Given the description of an element on the screen output the (x, y) to click on. 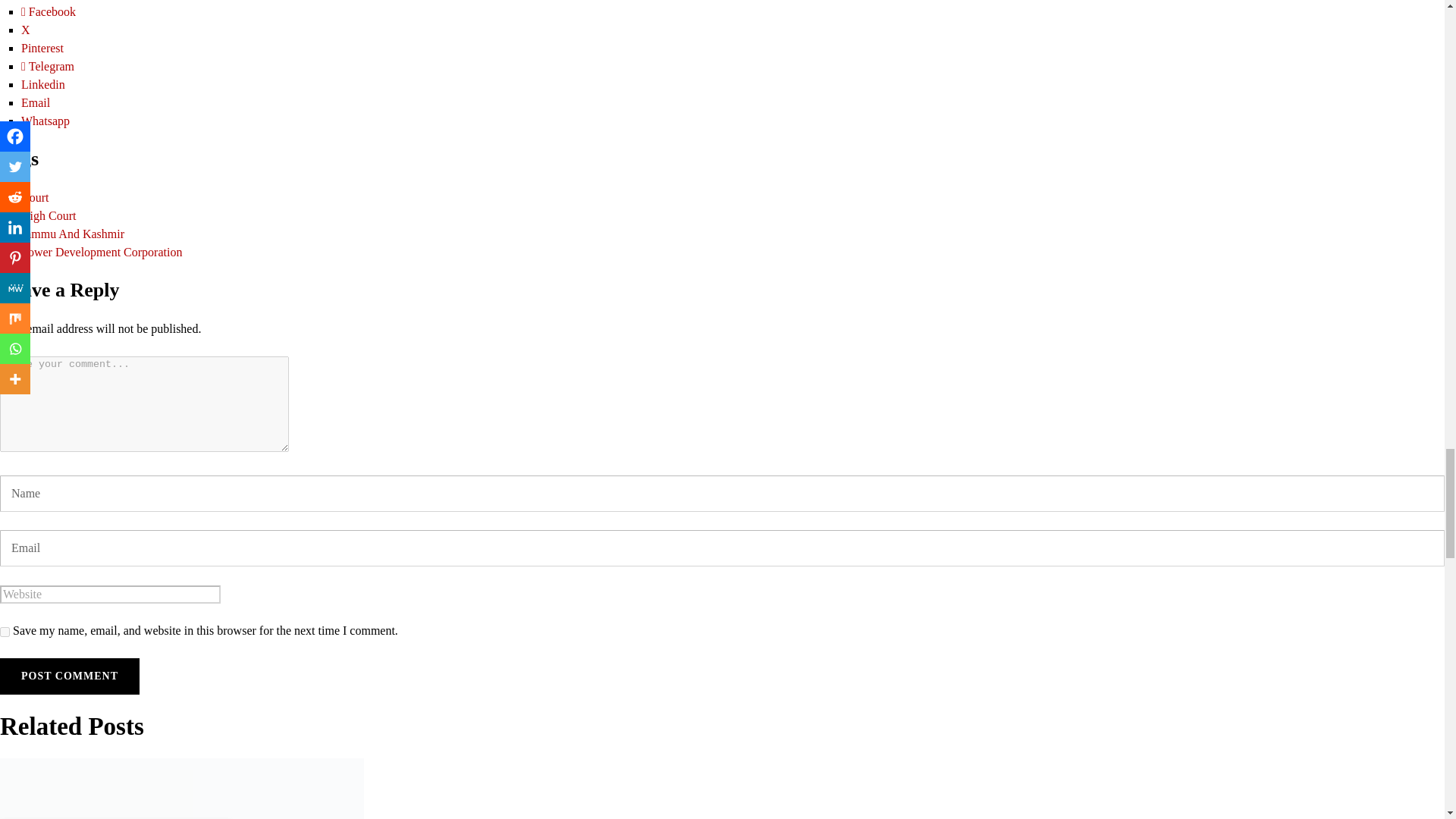
Pinterest (42, 47)
Linkedin (43, 83)
Court (34, 196)
Telegram (47, 65)
Post Comment (69, 676)
Whatsapp (45, 120)
Facebook (48, 11)
yes (5, 632)
Email (35, 102)
